Given the description of an element on the screen output the (x, y) to click on. 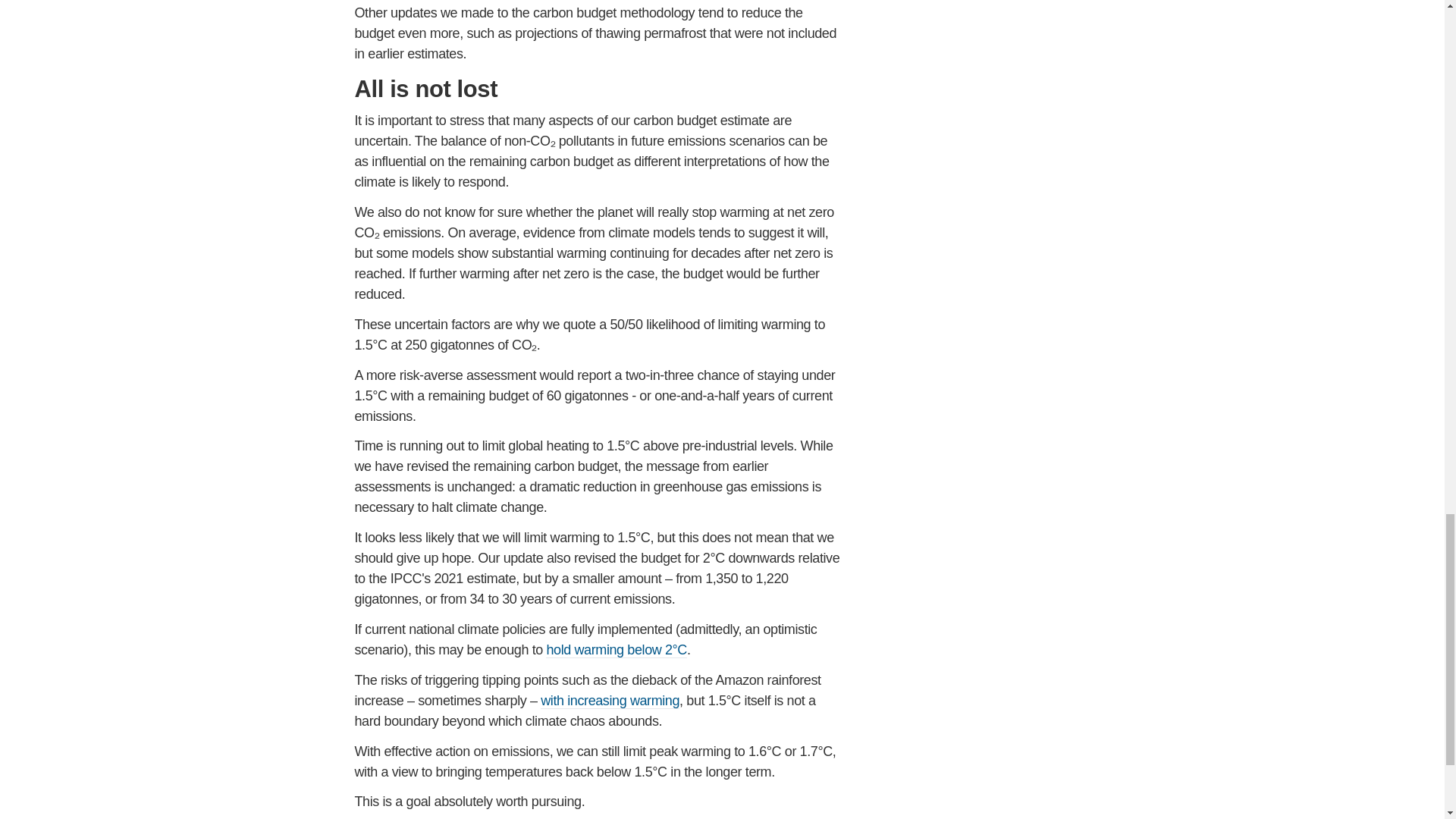
with increasing warming (609, 700)
